Given the description of an element on the screen output the (x, y) to click on. 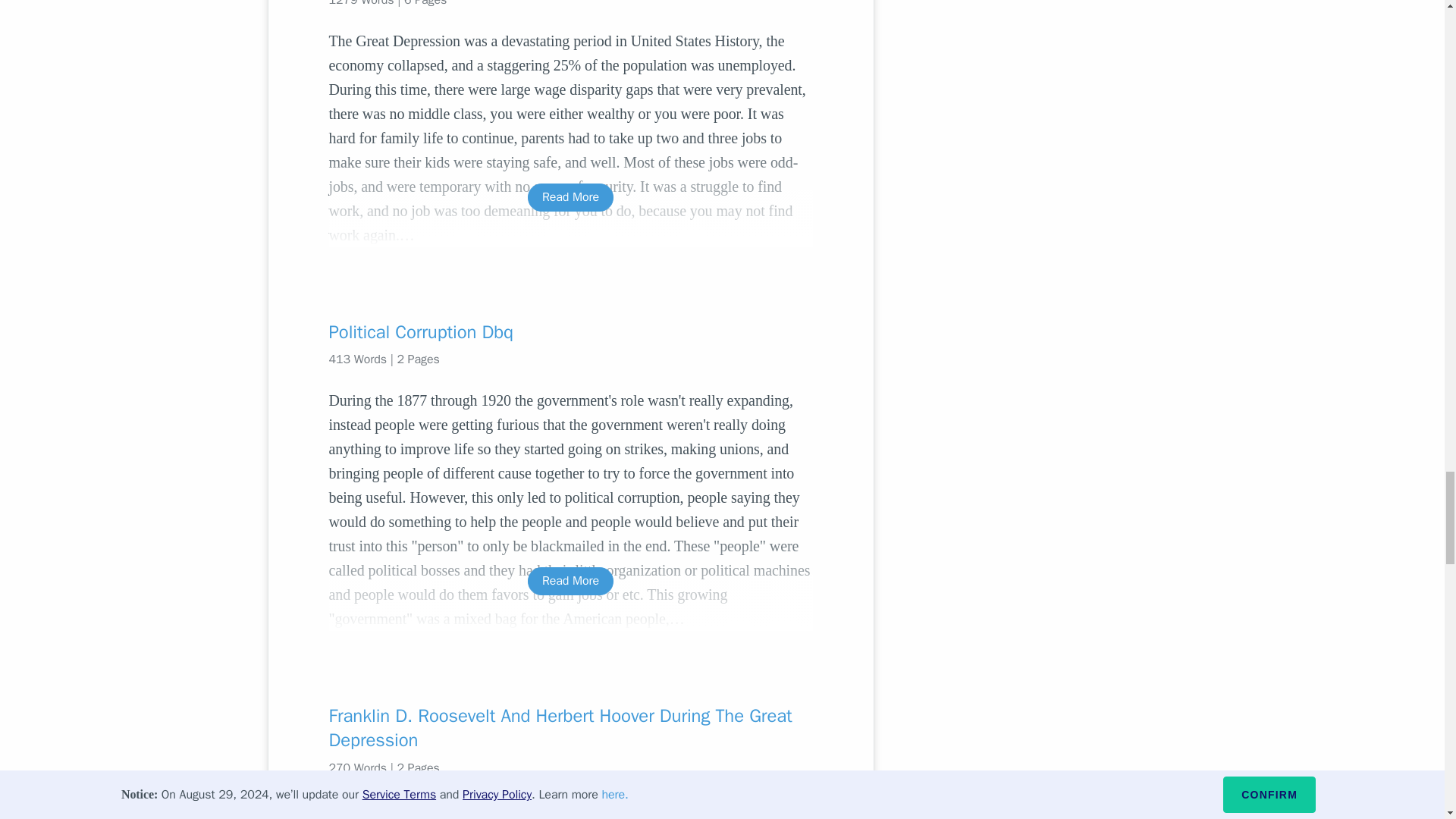
Read More (569, 197)
Political Corruption Dbq (570, 331)
